Given the description of an element on the screen output the (x, y) to click on. 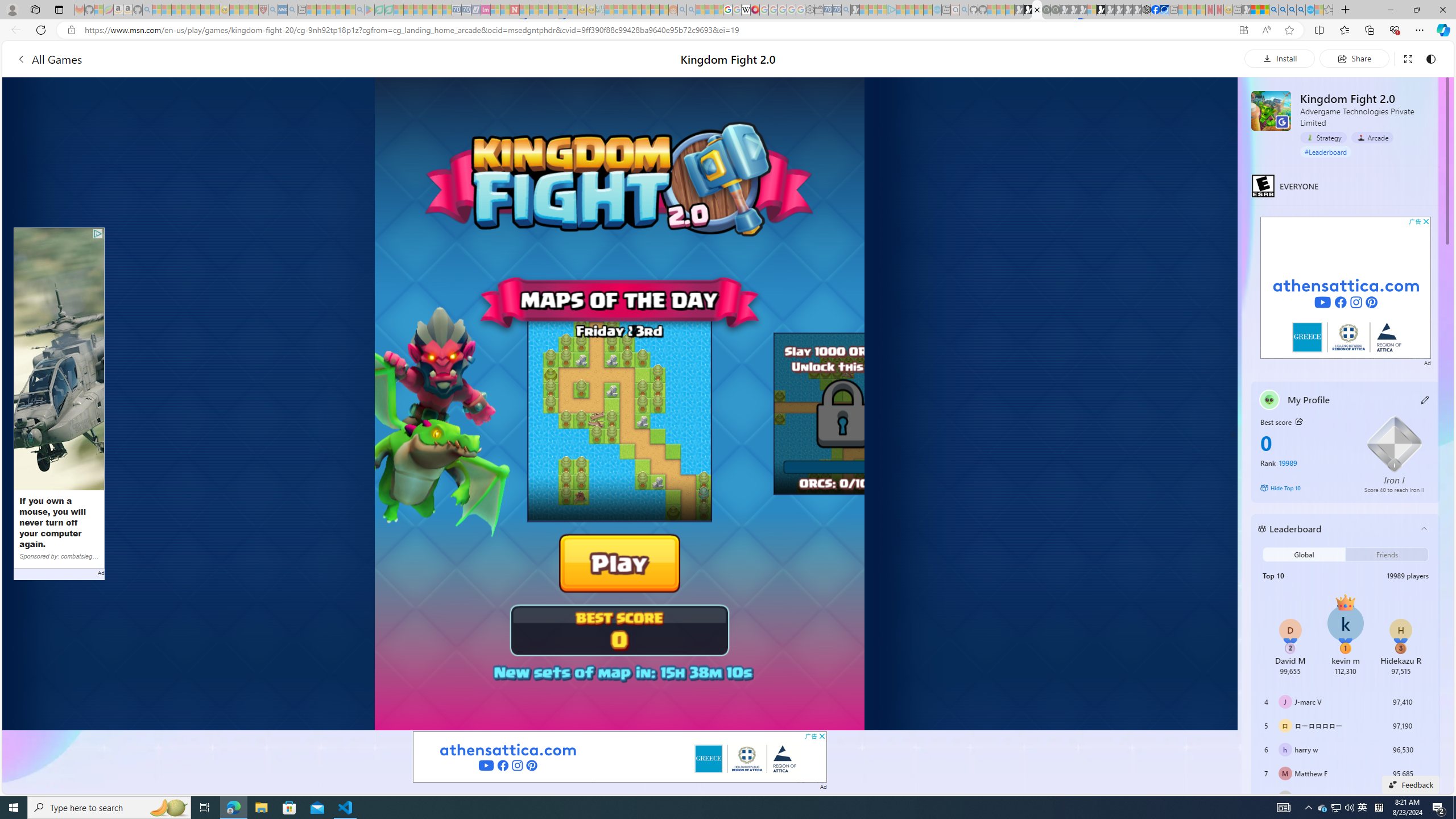
Strategy (1323, 137)
Home | Sky Blue Bikes - Sky Blue Bikes - Sleeping (936, 9)
Class: control (1231, 434)
MSN - Sleeping (1246, 9)
Expert Portfolios - Sleeping (636, 9)
